Given the description of an element on the screen output the (x, y) to click on. 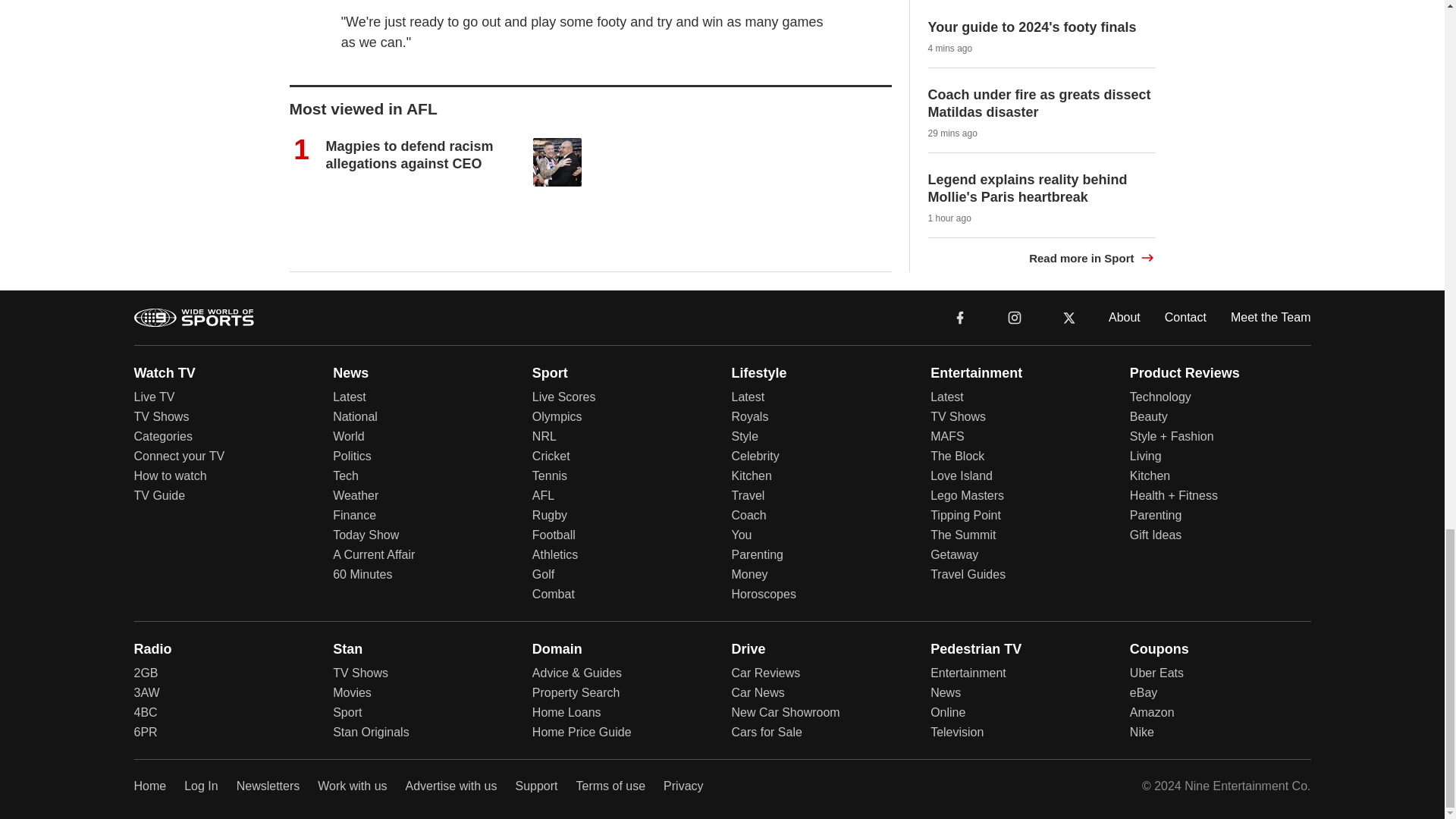
Contact (1185, 317)
instagram (1014, 316)
Magpies to defend racism allegations against CEO (409, 154)
facebook (960, 316)
x (1069, 316)
About (1124, 317)
instagram (1013, 316)
TV Shows (161, 415)
facebook (959, 316)
Meet the Team (1270, 317)
x (1069, 316)
Watch TV (164, 372)
facebook (959, 316)
Live TV (153, 395)
instagram (1013, 316)
